Given the description of an element on the screen output the (x, y) to click on. 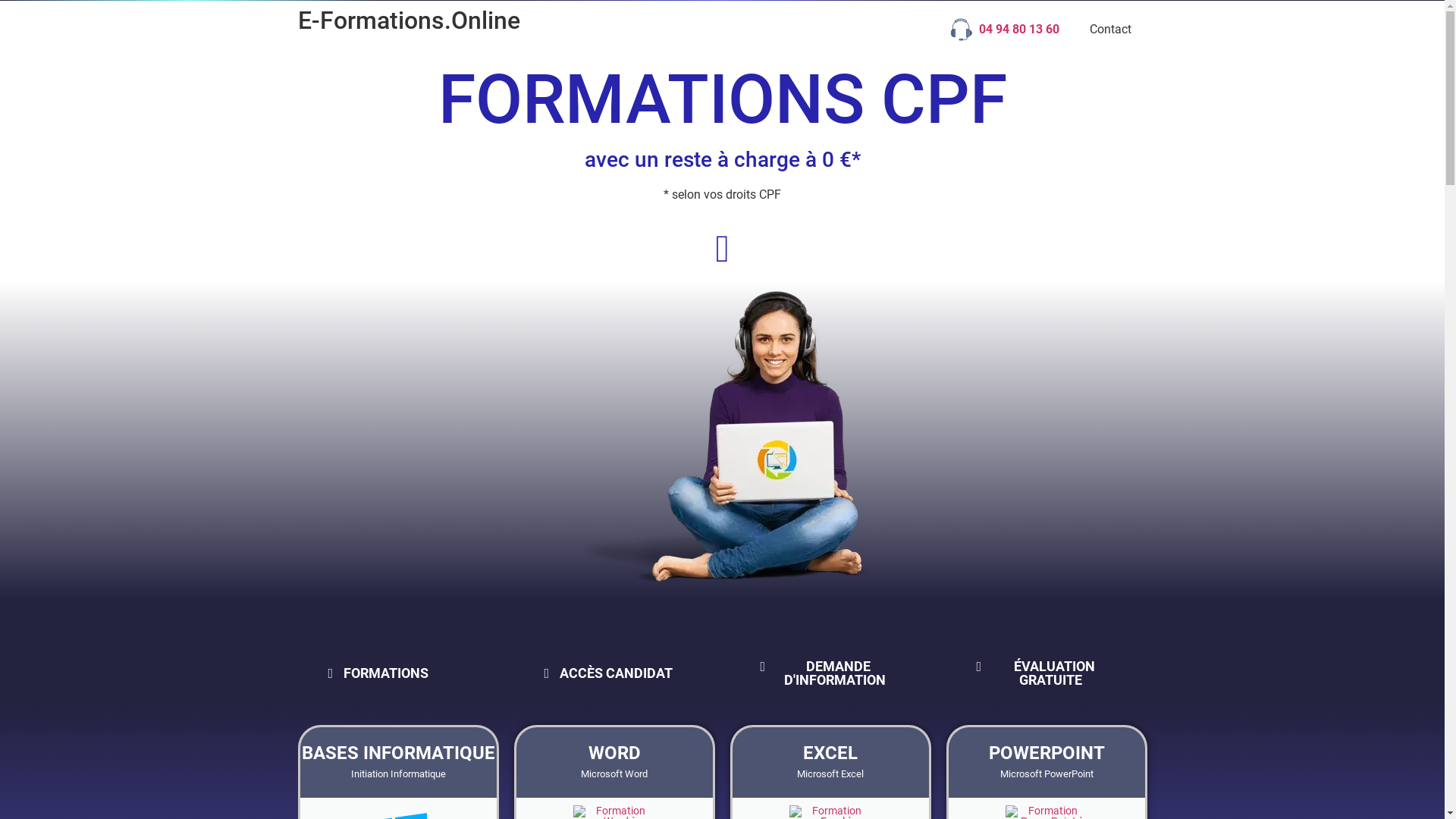
04 94 80 13 60 Element type: text (1004, 29)
FORMATIONS Element type: text (377, 673)
Contact Element type: text (1110, 29)
DEMANDE D'INFORMATION Element type: text (829, 673)
